Given the description of an element on the screen output the (x, y) to click on. 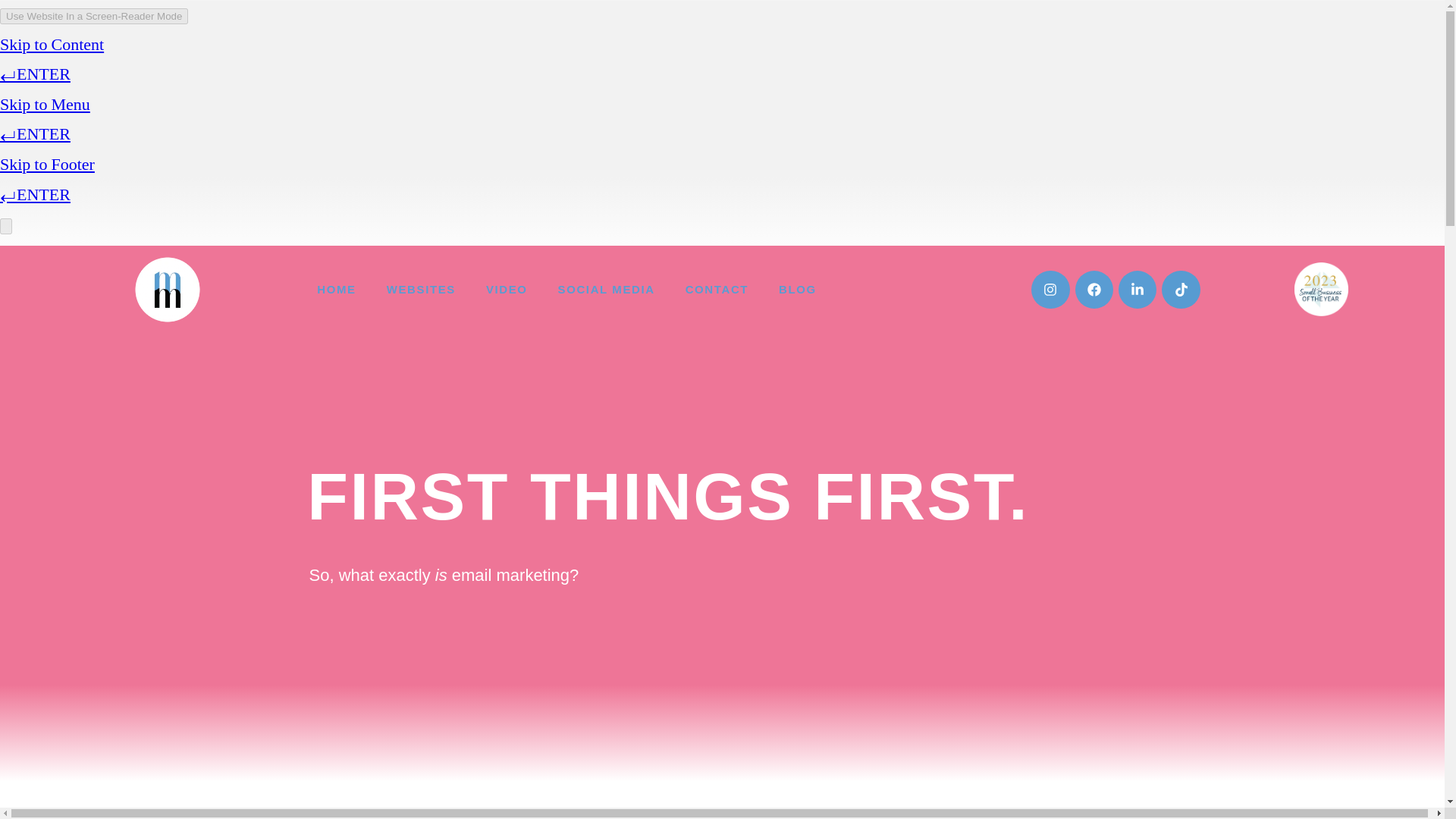
WEBSITES (420, 289)
BLOG (796, 289)
HOME (336, 289)
VIDEO (506, 289)
CONTACT (715, 289)
SOCIAL MEDIA (606, 289)
